Given the description of an element on the screen output the (x, y) to click on. 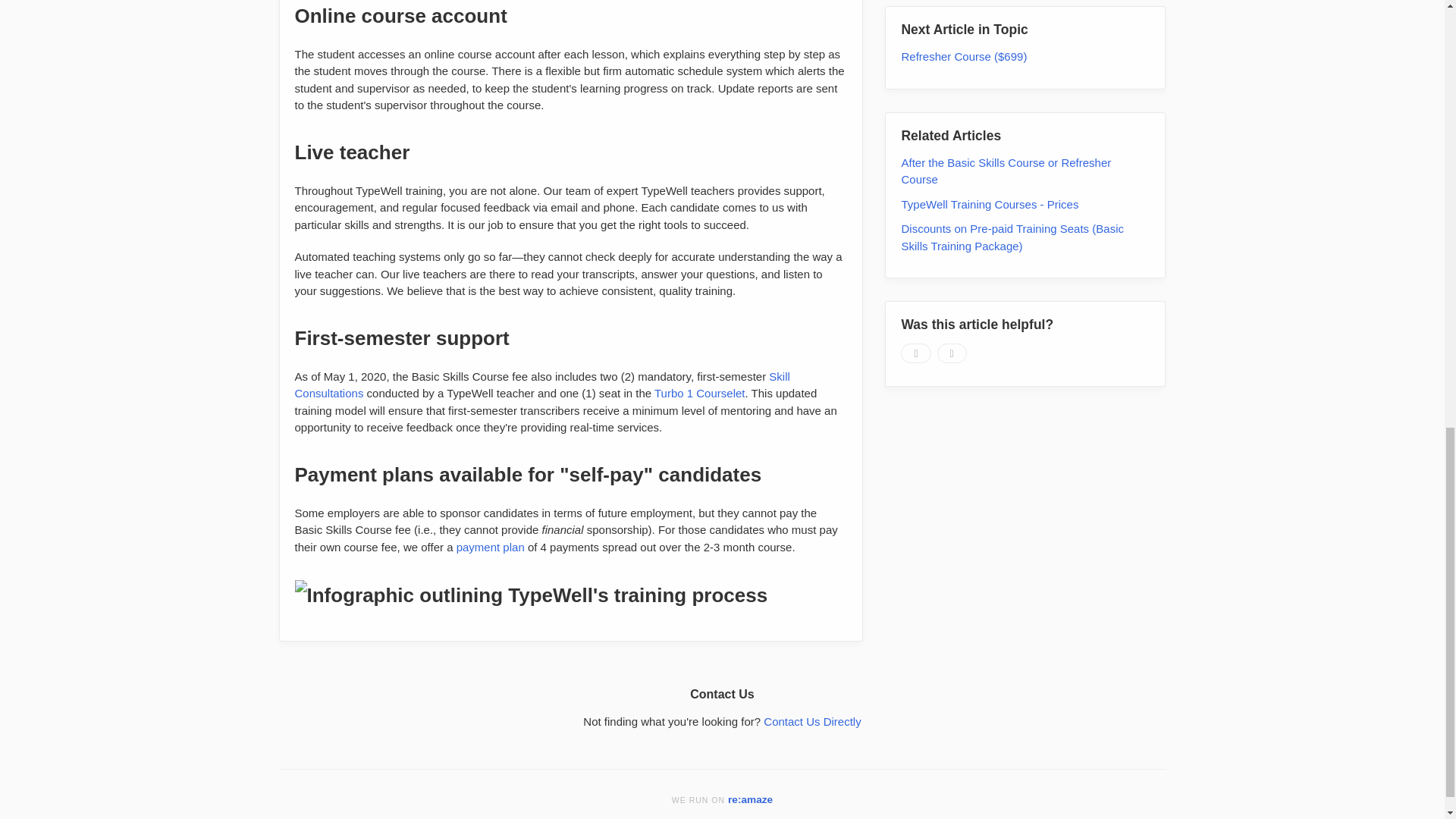
payment plan (490, 545)
re:amaze (750, 799)
Skill Consultations (541, 385)
Contact Us Directly (811, 721)
Turbo 1 Courselet (699, 392)
